Given the description of an element on the screen output the (x, y) to click on. 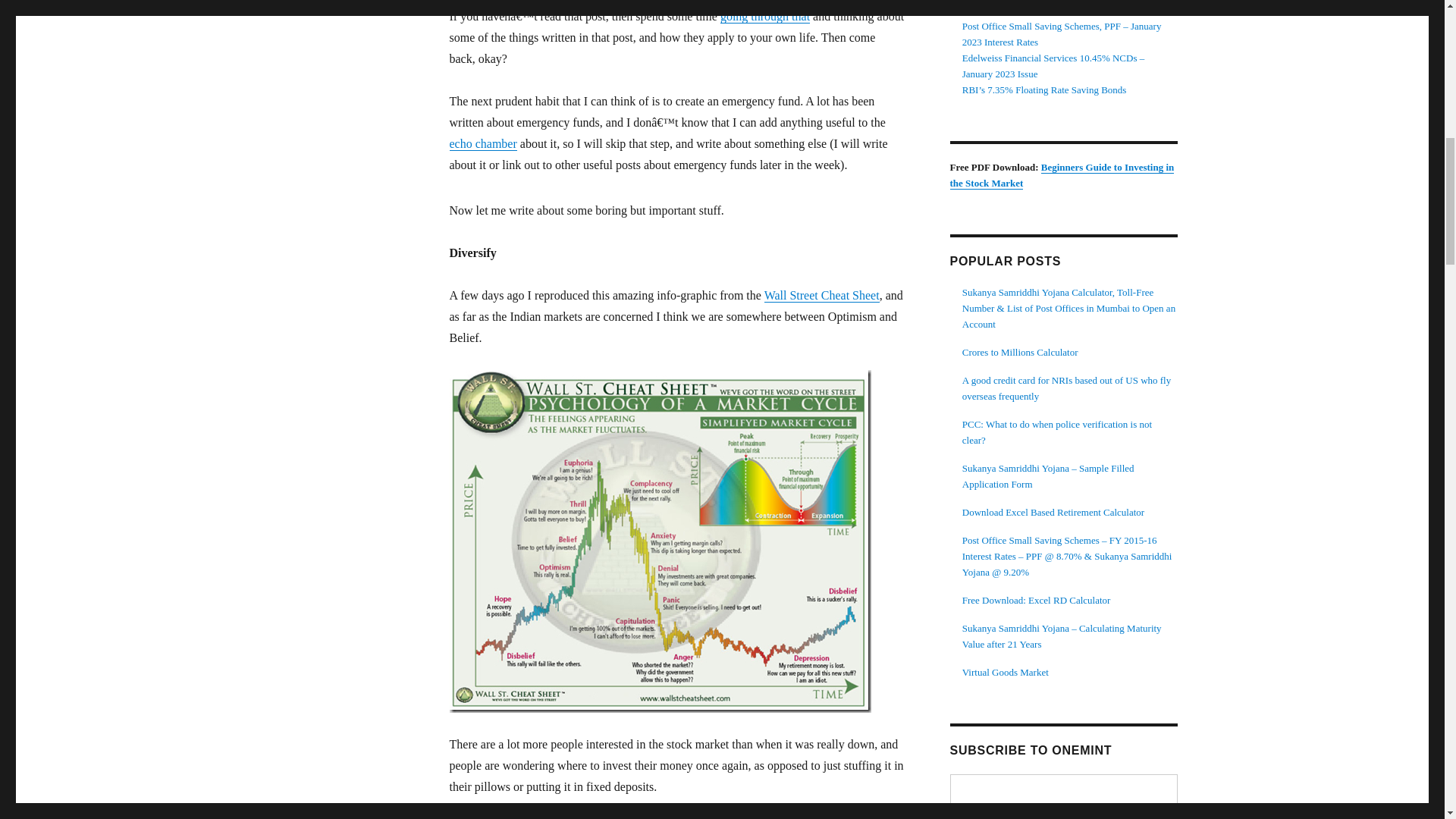
echo chamber (482, 143)
going through that (764, 15)
Wall Street Cheat Sheet (821, 295)
